Given the description of an element on the screen output the (x, y) to click on. 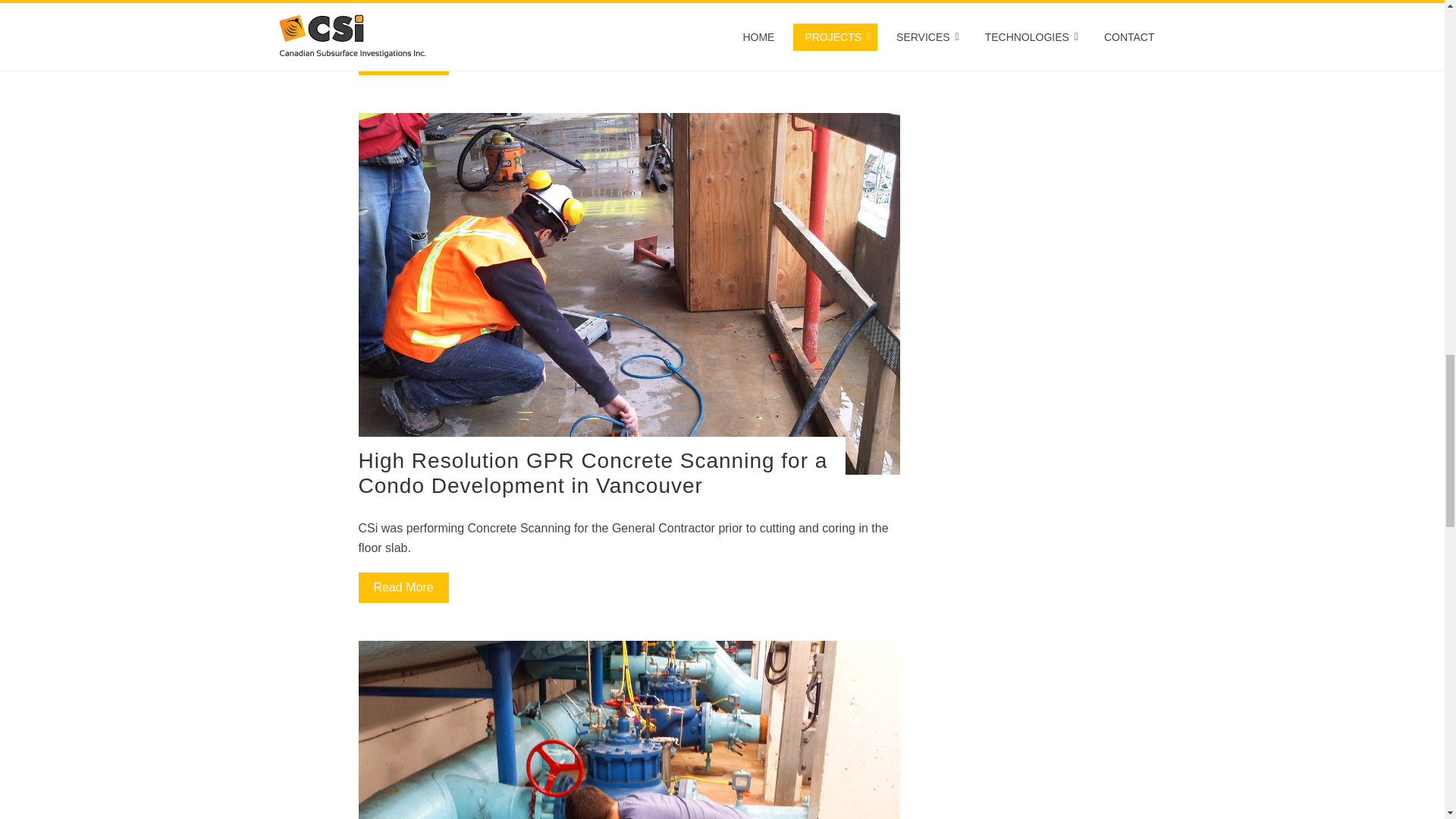
Read More (403, 60)
Read More (403, 587)
